Given the description of an element on the screen output the (x, y) to click on. 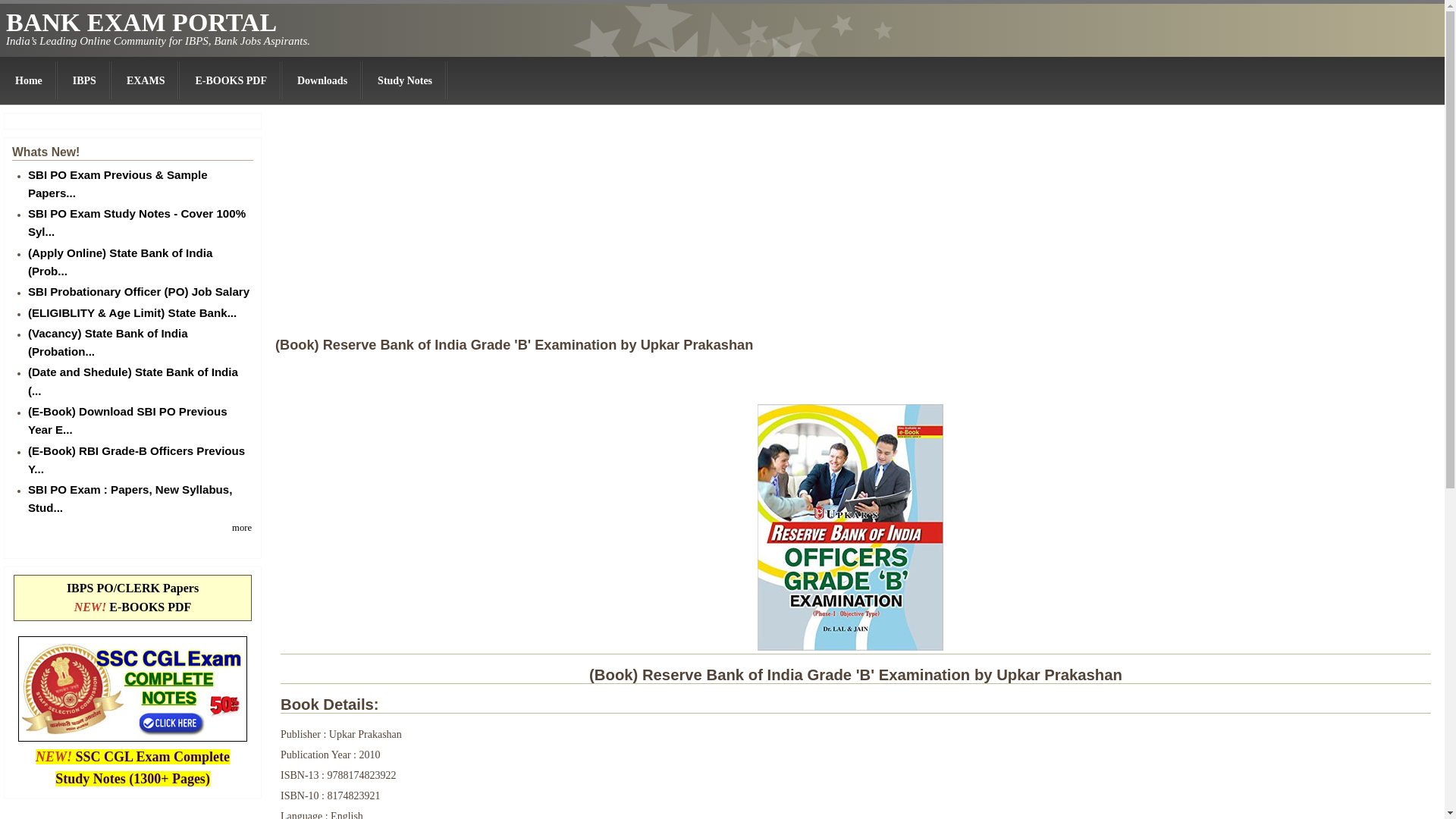
EXAMS (146, 80)
IBPS : CWE, PO, MT JOBS (85, 80)
Downloads (322, 80)
Home (29, 80)
IBPS (85, 80)
Welcome to BANKPOCLERK.COM (29, 80)
Home (140, 22)
E-BOOKS PDF (230, 80)
BANK EXAM PORTAL (140, 22)
